Given the description of an element on the screen output the (x, y) to click on. 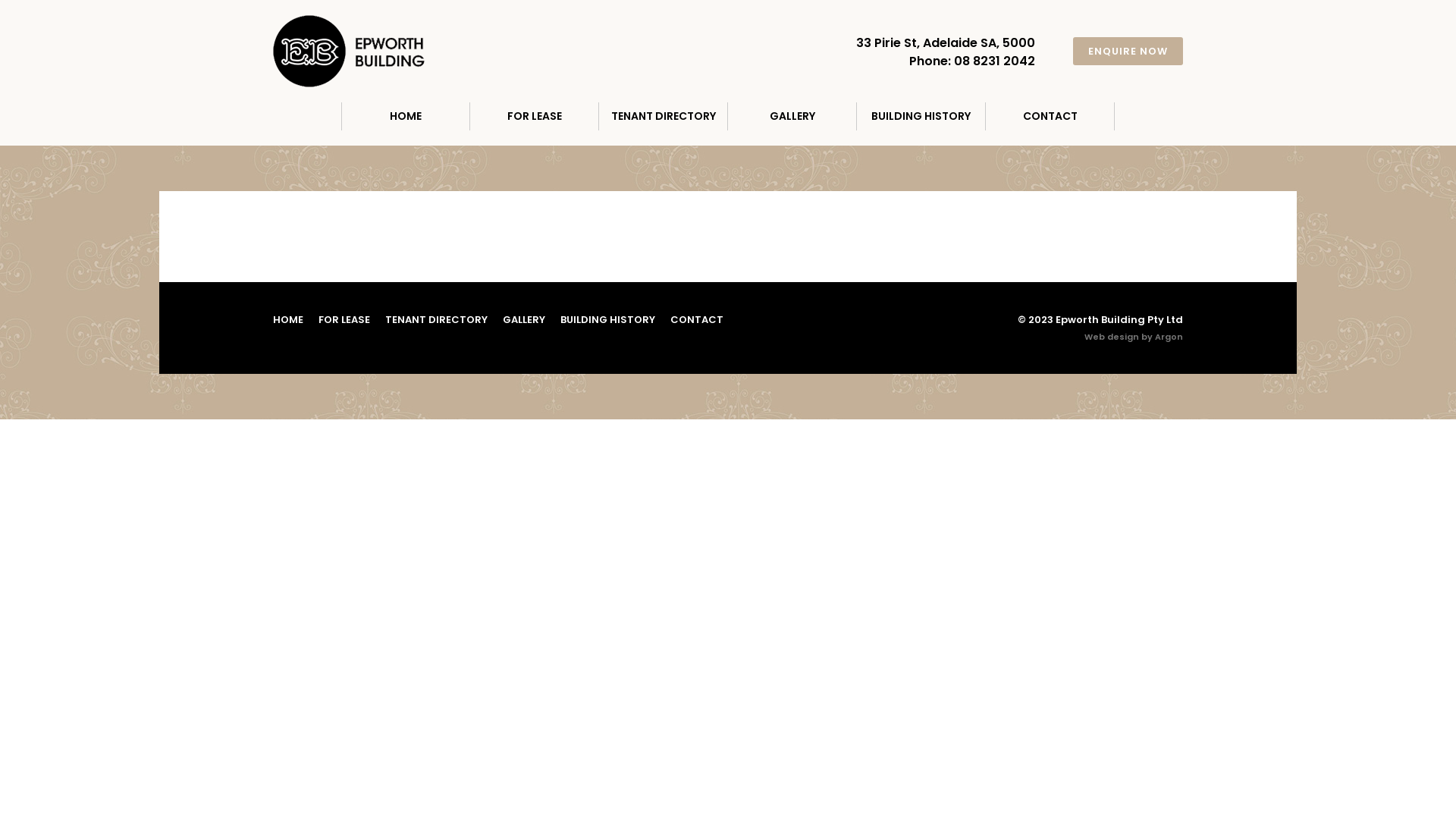
Web design Element type: text (1111, 336)
GALLERY Element type: text (523, 319)
FOR LEASE Element type: text (534, 116)
HOME Element type: text (288, 319)
HOME Element type: text (405, 116)
TENANT DIRECTORY Element type: text (663, 116)
BUILDING HISTORY Element type: text (607, 319)
GALLERY Element type: text (792, 116)
FOR LEASE Element type: text (344, 319)
TENANT DIRECTORY Element type: text (436, 319)
ENQUIRE NOW Element type: text (1128, 51)
BUILDING HISTORY Element type: text (920, 116)
CONTACT Element type: text (696, 319)
CONTACT Element type: text (1049, 116)
